Given the description of an element on the screen output the (x, y) to click on. 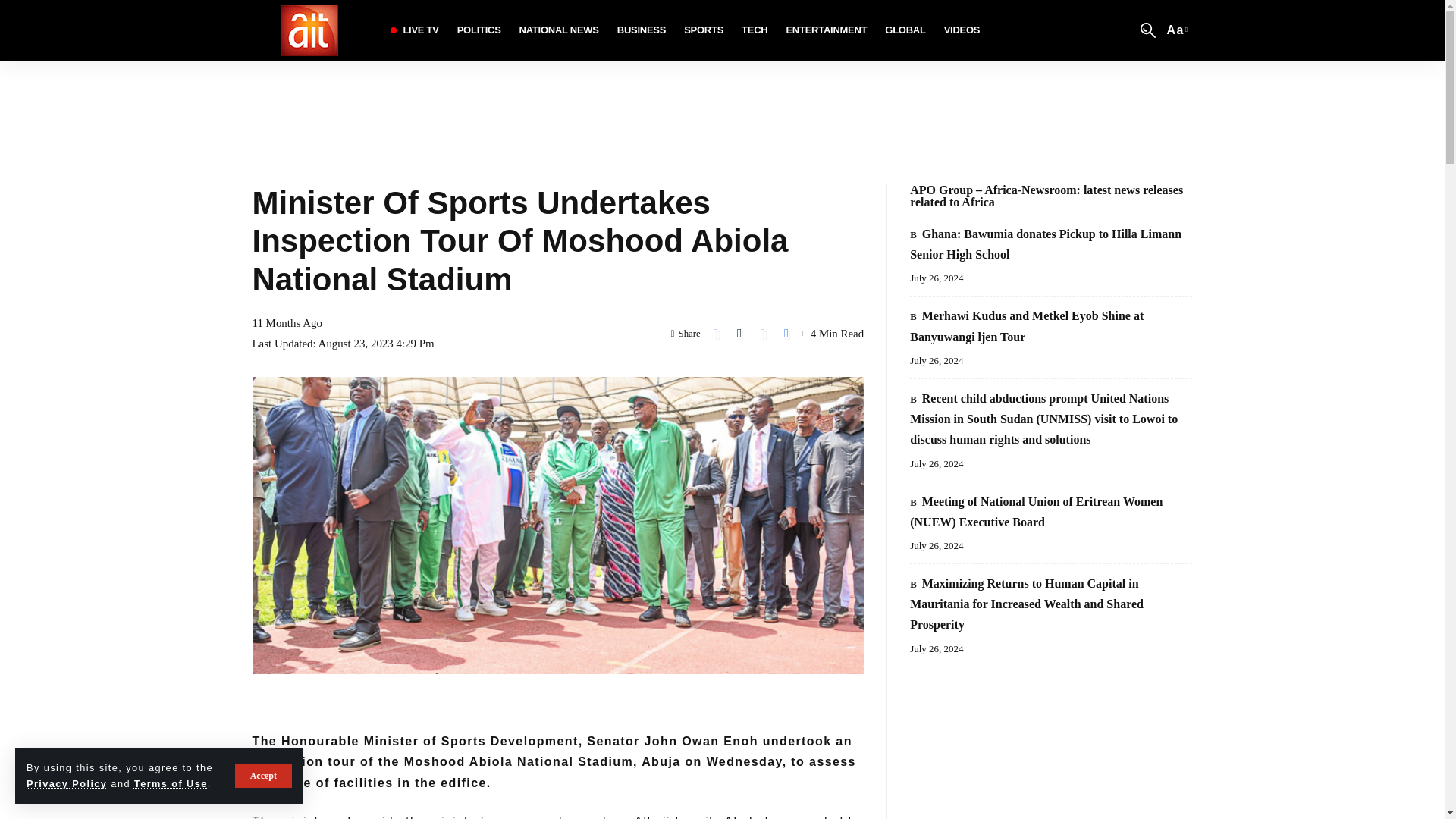
SPORTS (703, 30)
POLITICS (479, 30)
VIDEOS (1176, 29)
Privacy Policy (962, 30)
ENTERTAINMENT (66, 783)
NATIONAL NEWS (826, 30)
AIT LIVE (559, 30)
GLOBAL (308, 30)
BUSINESS (905, 30)
Accept (641, 30)
LIVE TV (263, 775)
Terms of Use (413, 30)
aitlive 6 9 (170, 783)
